Given the description of an element on the screen output the (x, y) to click on. 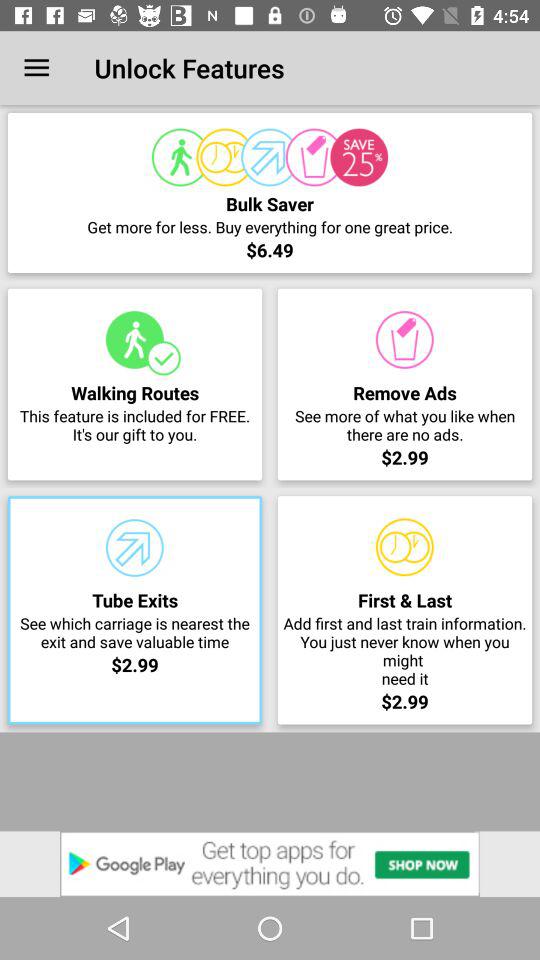
v google play option (270, 864)
